Given the description of an element on the screen output the (x, y) to click on. 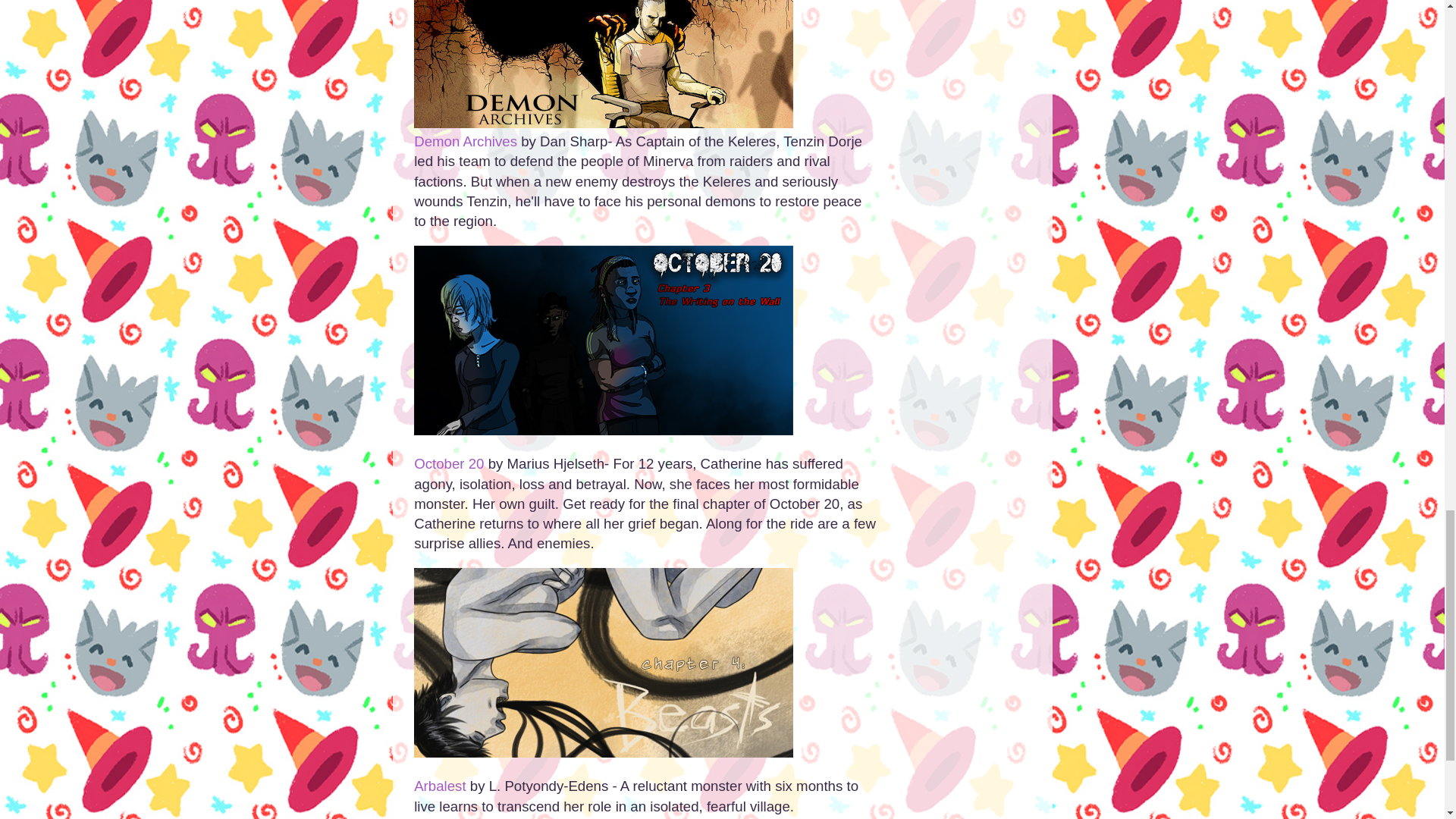
Demon Archives (464, 141)
Arbalest (439, 785)
October 20 (448, 463)
